Given the description of an element on the screen output the (x, y) to click on. 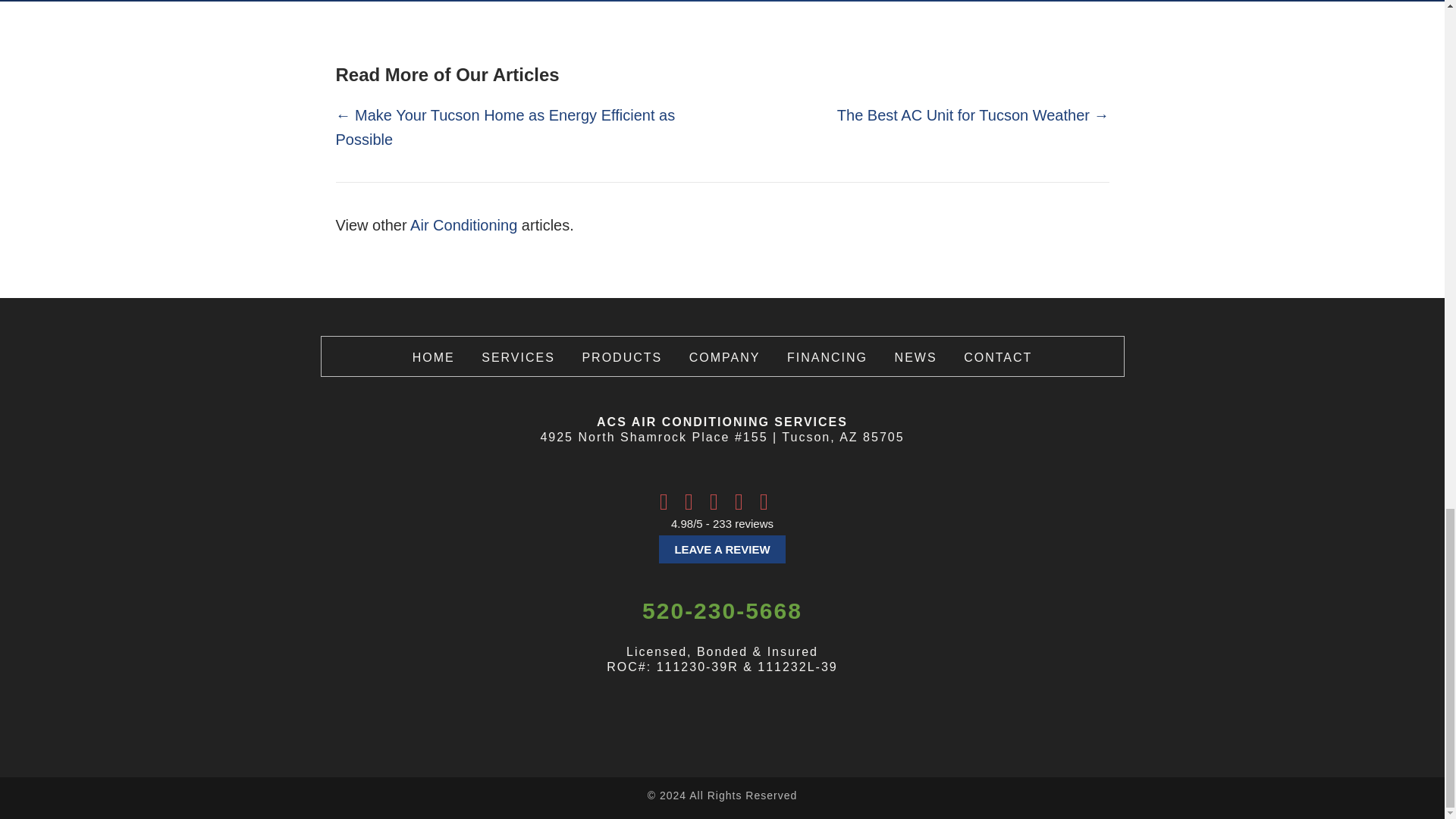
Air Conditioning (463, 225)
SERVICES (517, 357)
LEAVE A REVIEW (721, 549)
233 reviews (743, 522)
PRODUCTS (621, 357)
CONTACT (997, 357)
NEWS (916, 357)
520-230-5668 (722, 610)
FINANCING (827, 357)
HOME (433, 357)
COMPANY (724, 357)
